Given the description of an element on the screen output the (x, y) to click on. 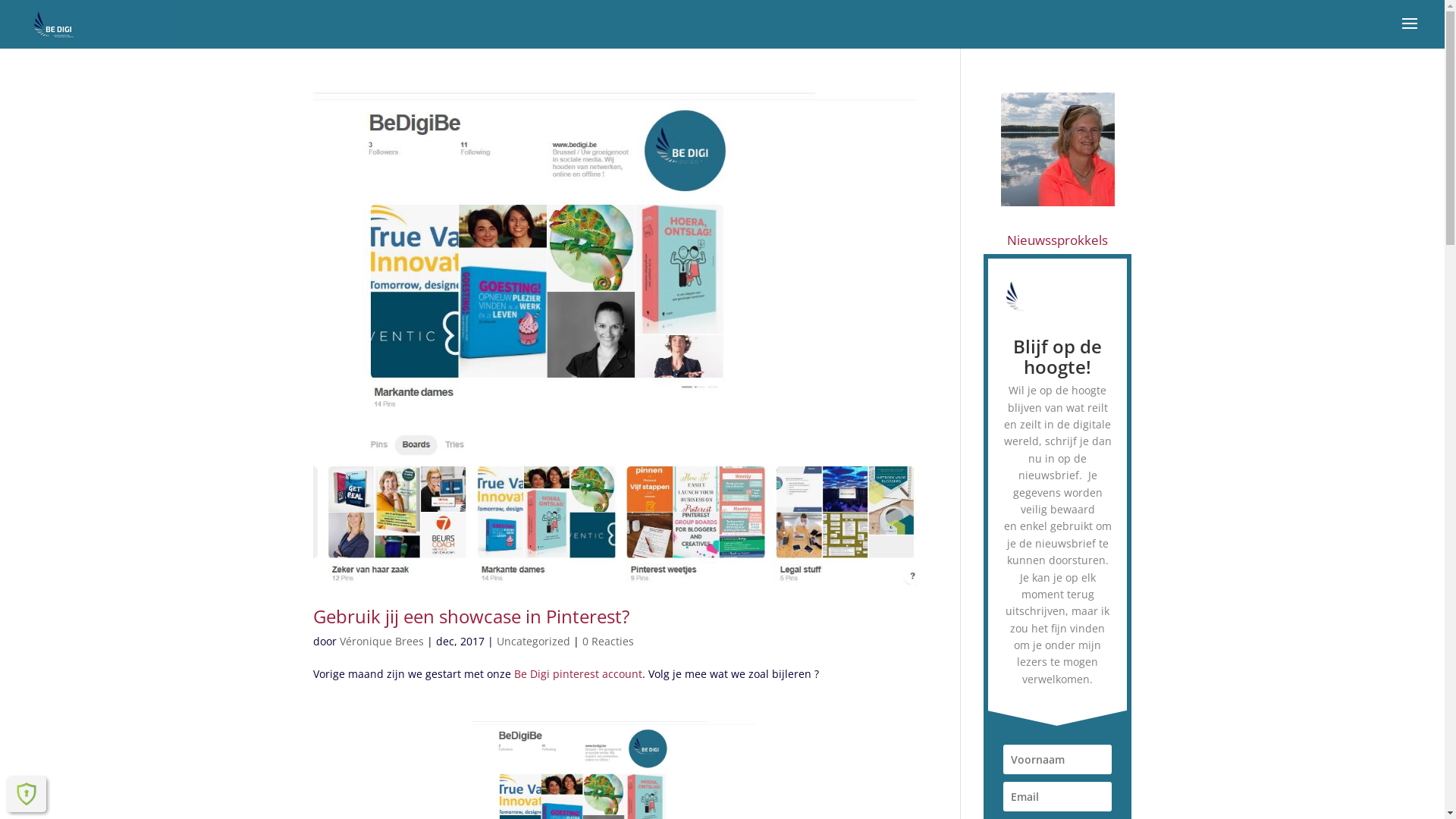
Be Digi pinterest account Element type: text (578, 673)
Gebruik jij een showcase in Pinterest? Element type: text (470, 615)
0 Reacties Element type: text (607, 640)
Uncategorized Element type: text (532, 640)
